Given the description of an element on the screen output the (x, y) to click on. 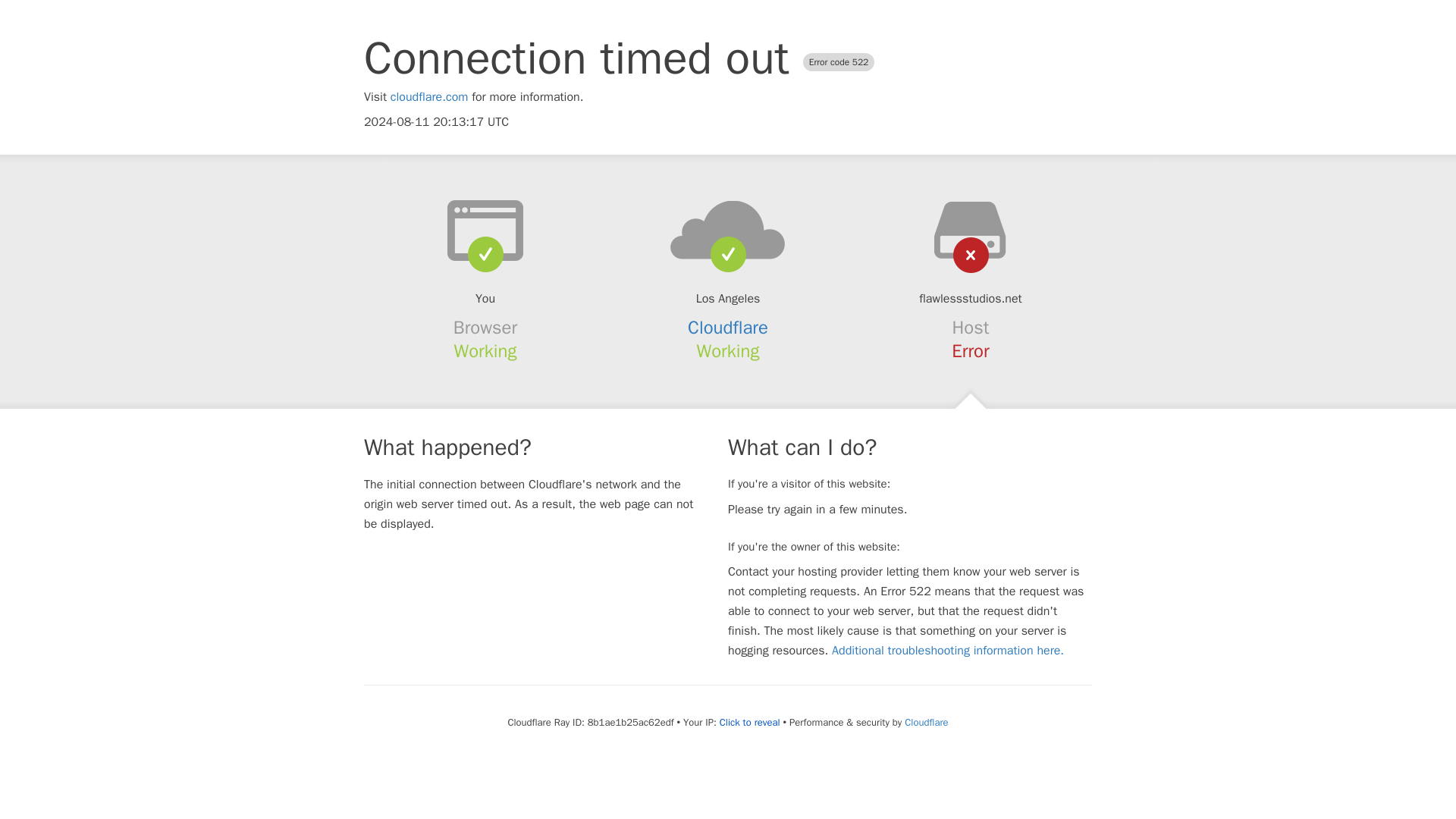
Click to reveal (749, 722)
Additional troubleshooting information here. (947, 650)
Cloudflare (925, 721)
Cloudflare (727, 327)
cloudflare.com (429, 96)
